Given the description of an element on the screen output the (x, y) to click on. 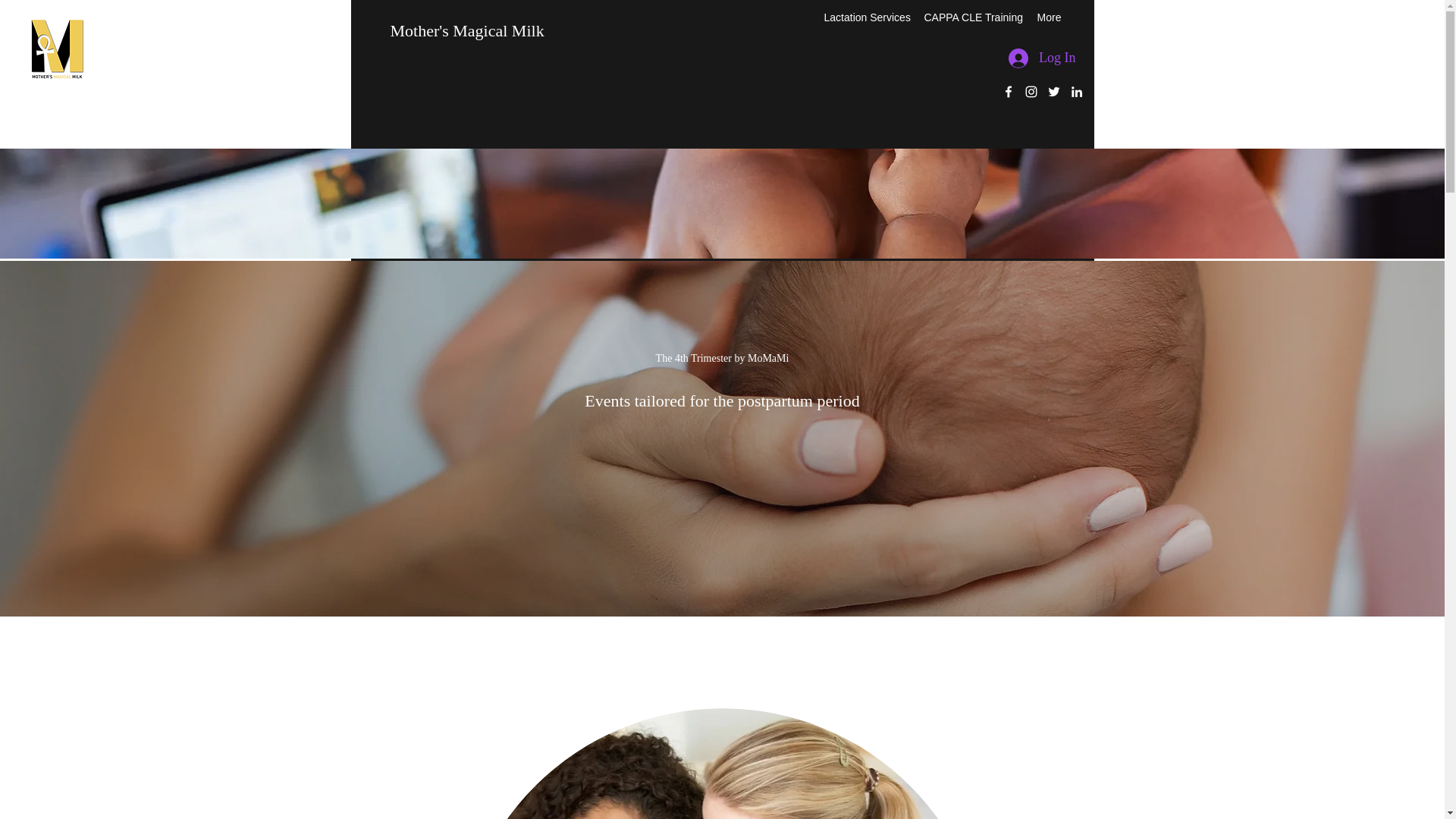
CAPPA CLE Training (971, 16)
Lactation Services (865, 16)
Log In (1041, 58)
Mother's Magical Milk (466, 30)
